Given the description of an element on the screen output the (x, y) to click on. 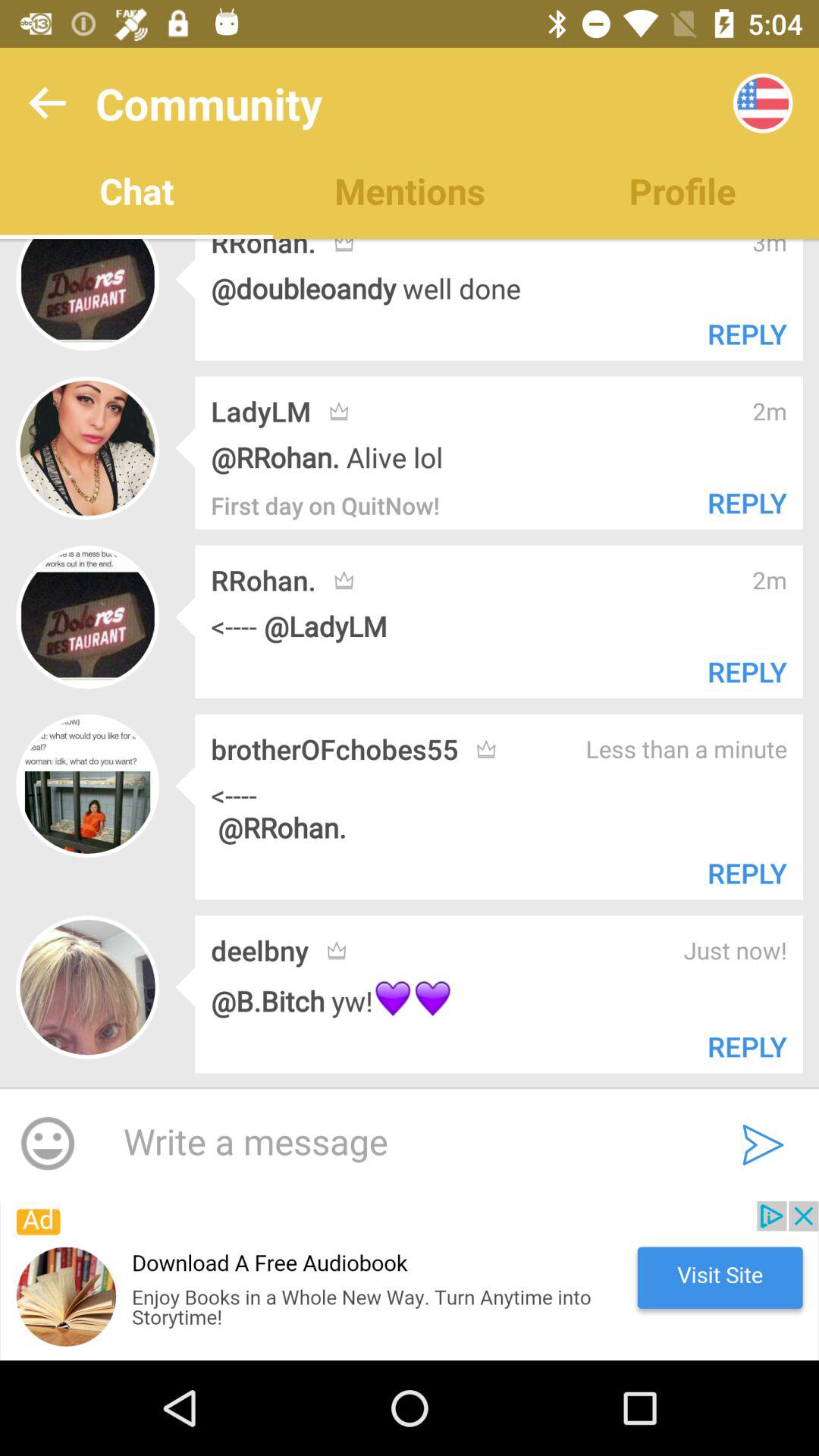
add of the option (409, 1280)
